Given the description of an element on the screen output the (x, y) to click on. 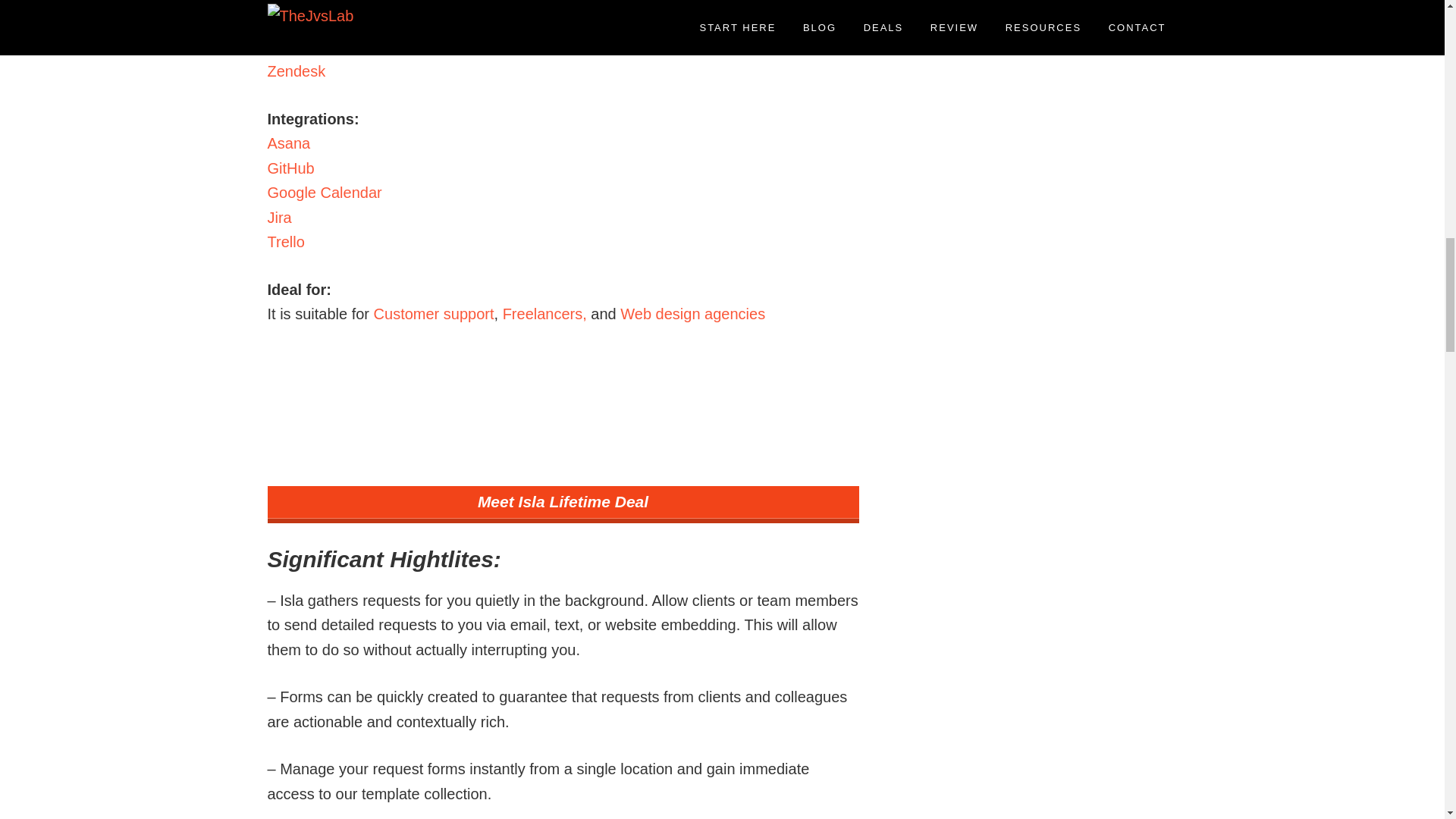
Customer support (434, 313)
Trello (285, 241)
Asana (288, 143)
Google Calendar (323, 192)
Productboard (312, 21)
Meet Isla Lifetime Deal (562, 504)
GitHub (290, 167)
Zendesk (295, 71)
Jira (278, 217)
Freelancers, (544, 313)
Slack (285, 46)
Web design agencies (692, 313)
